Given the description of an element on the screen output the (x, y) to click on. 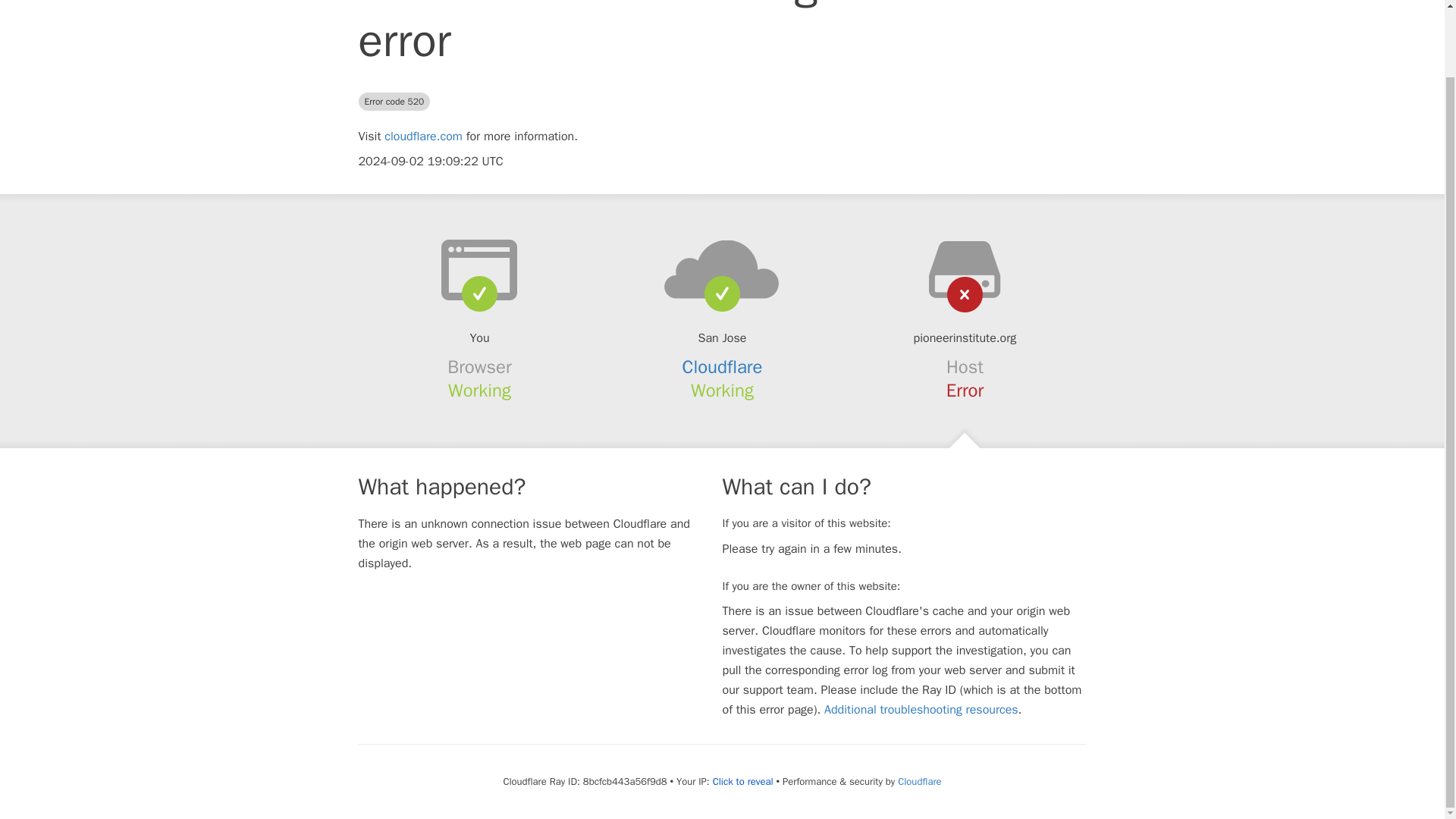
Cloudflare (722, 366)
Click to reveal (743, 781)
Additional troubleshooting resources (920, 709)
Cloudflare (919, 780)
cloudflare.com (423, 136)
